Given the description of an element on the screen output the (x, y) to click on. 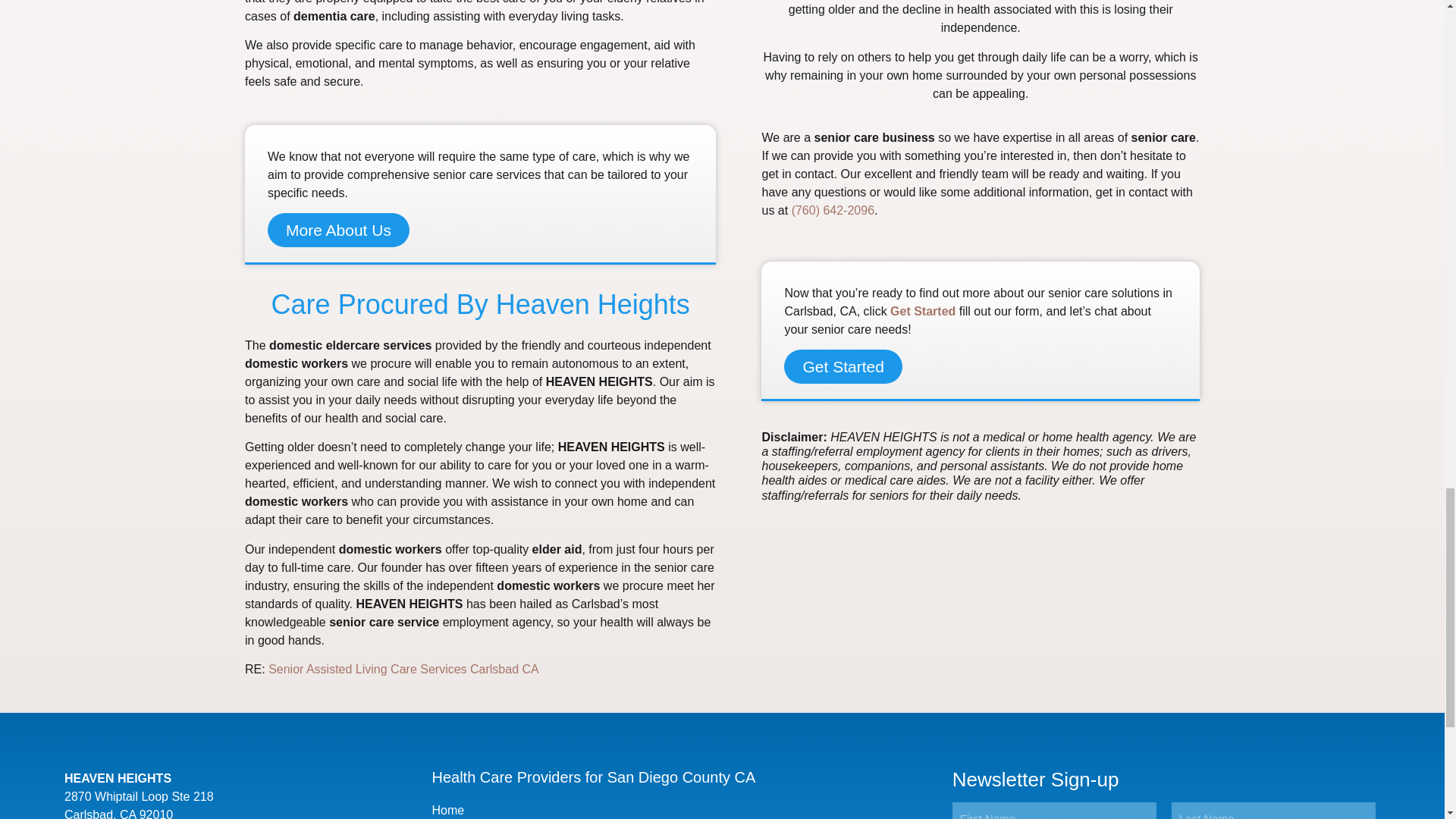
More About Us (338, 229)
Senior Assisted Living Care Services Carlsbad CA (402, 668)
Get Started (922, 310)
Get Started (842, 366)
